Given the description of an element on the screen output the (x, y) to click on. 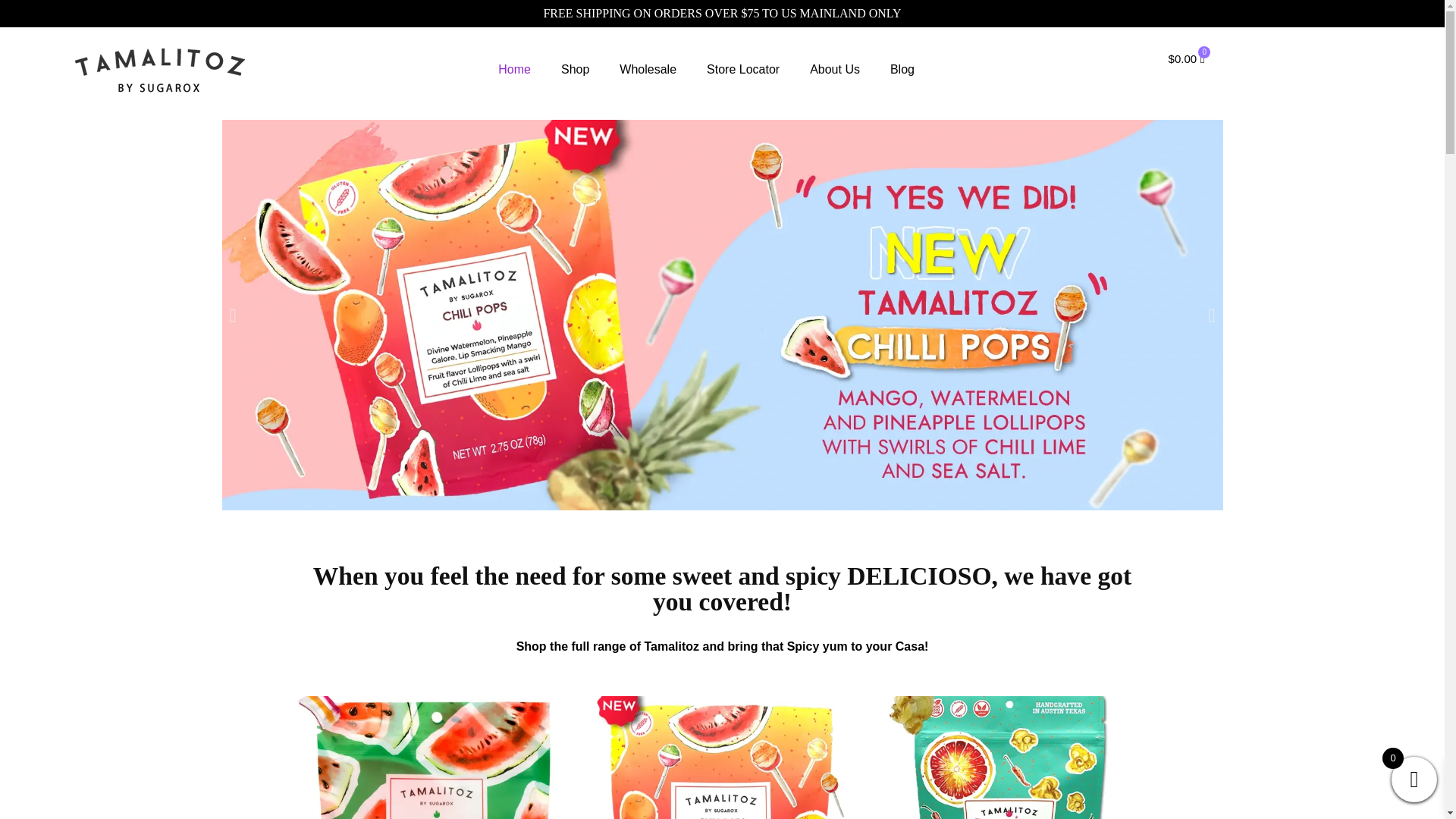
About Us (834, 69)
Store Locator (742, 69)
Home (514, 69)
Wholesale (647, 69)
